Given the description of an element on the screen output the (x, y) to click on. 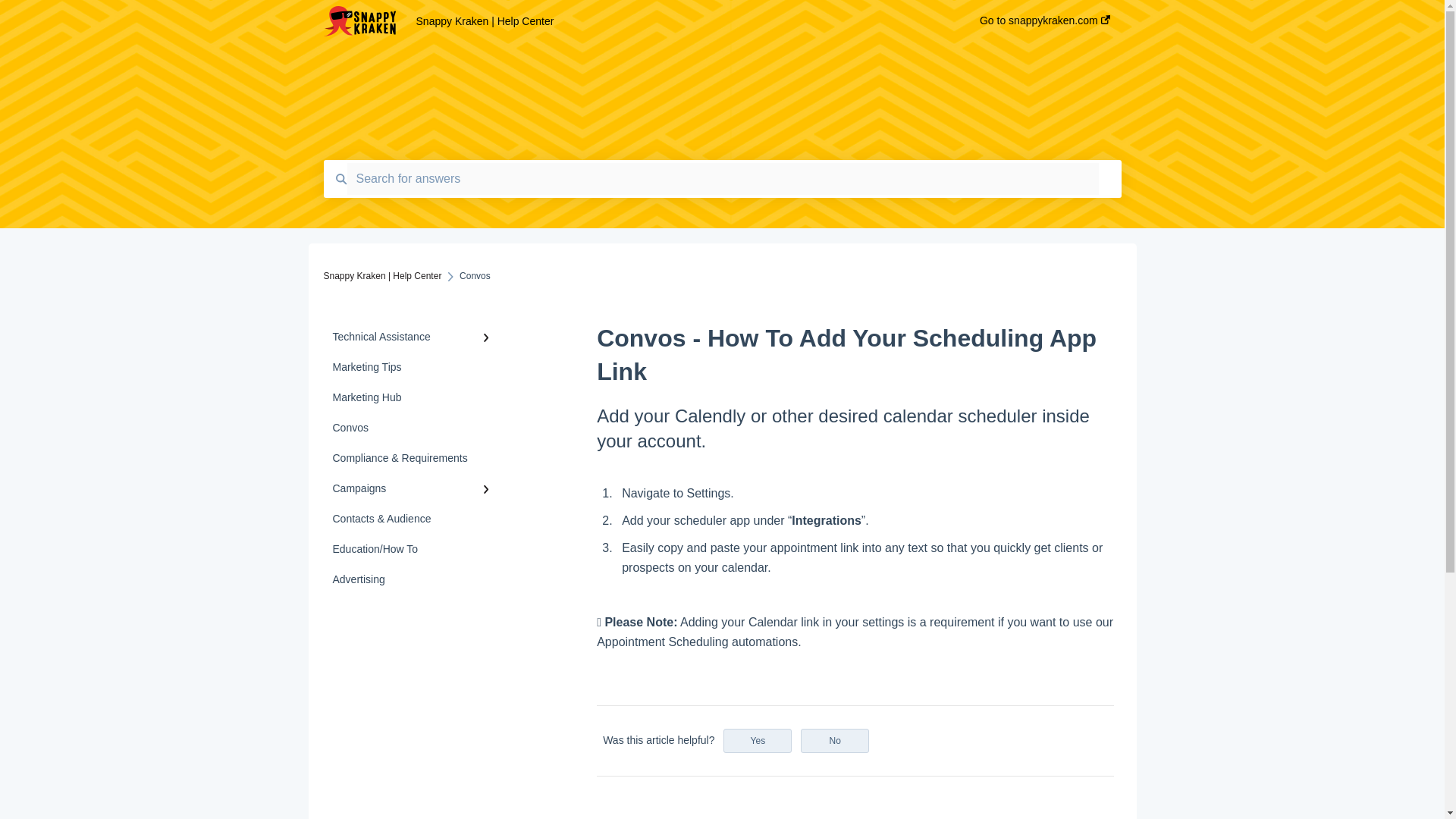
Technical Assistance (414, 336)
Go to snappykraken.com (1044, 25)
No (834, 740)
Marketing Tips (414, 367)
Campaigns (414, 488)
Yes (757, 740)
Convos (414, 427)
Marketing Hub (414, 397)
Advertising (414, 579)
